Given the description of an element on the screen output the (x, y) to click on. 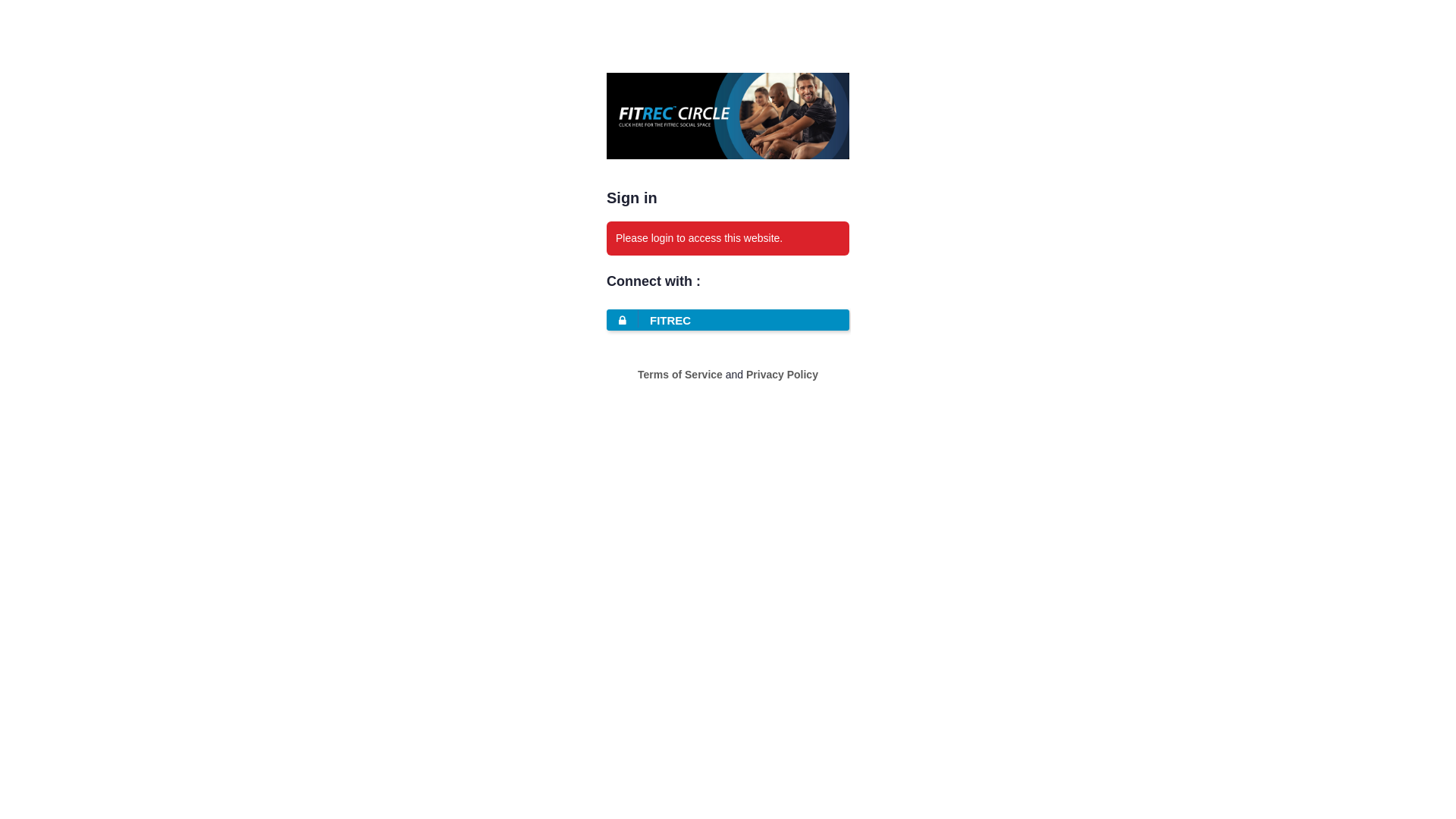
FITREC Element type: text (727, 319)
Privacy Policy Element type: text (782, 374)
Terms of Service Element type: text (679, 374)
